Given the description of an element on the screen output the (x, y) to click on. 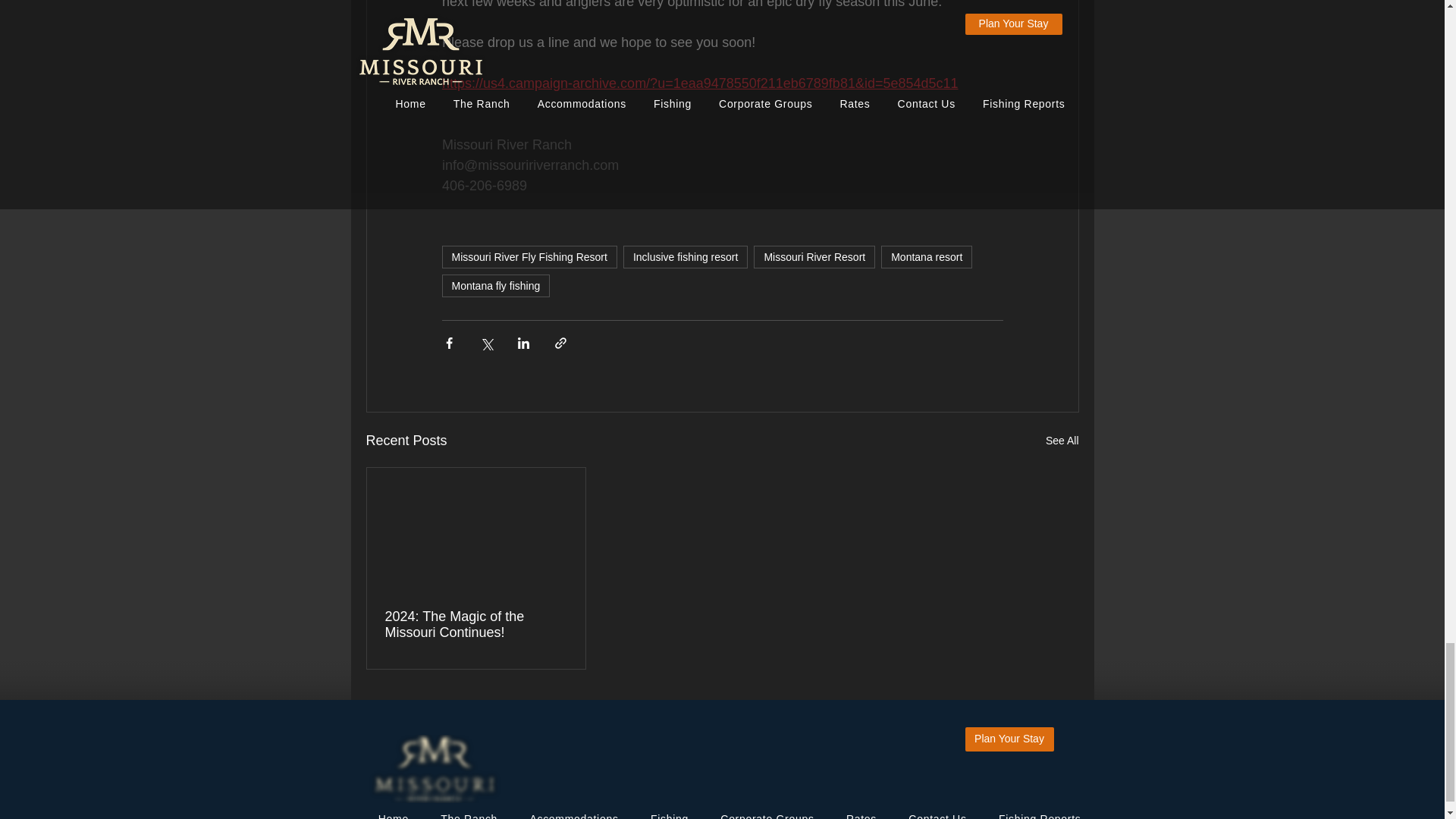
Corporate Groups (761, 814)
Montana resort (926, 256)
The Ranch (462, 814)
Rates (855, 814)
Contact Us (930, 814)
Montana fly fishing (495, 285)
Plan Your Stay (1007, 739)
Accommodations (567, 814)
2024: The Magic of the Missouri Continues! (476, 624)
Home (386, 814)
